Given the description of an element on the screen output the (x, y) to click on. 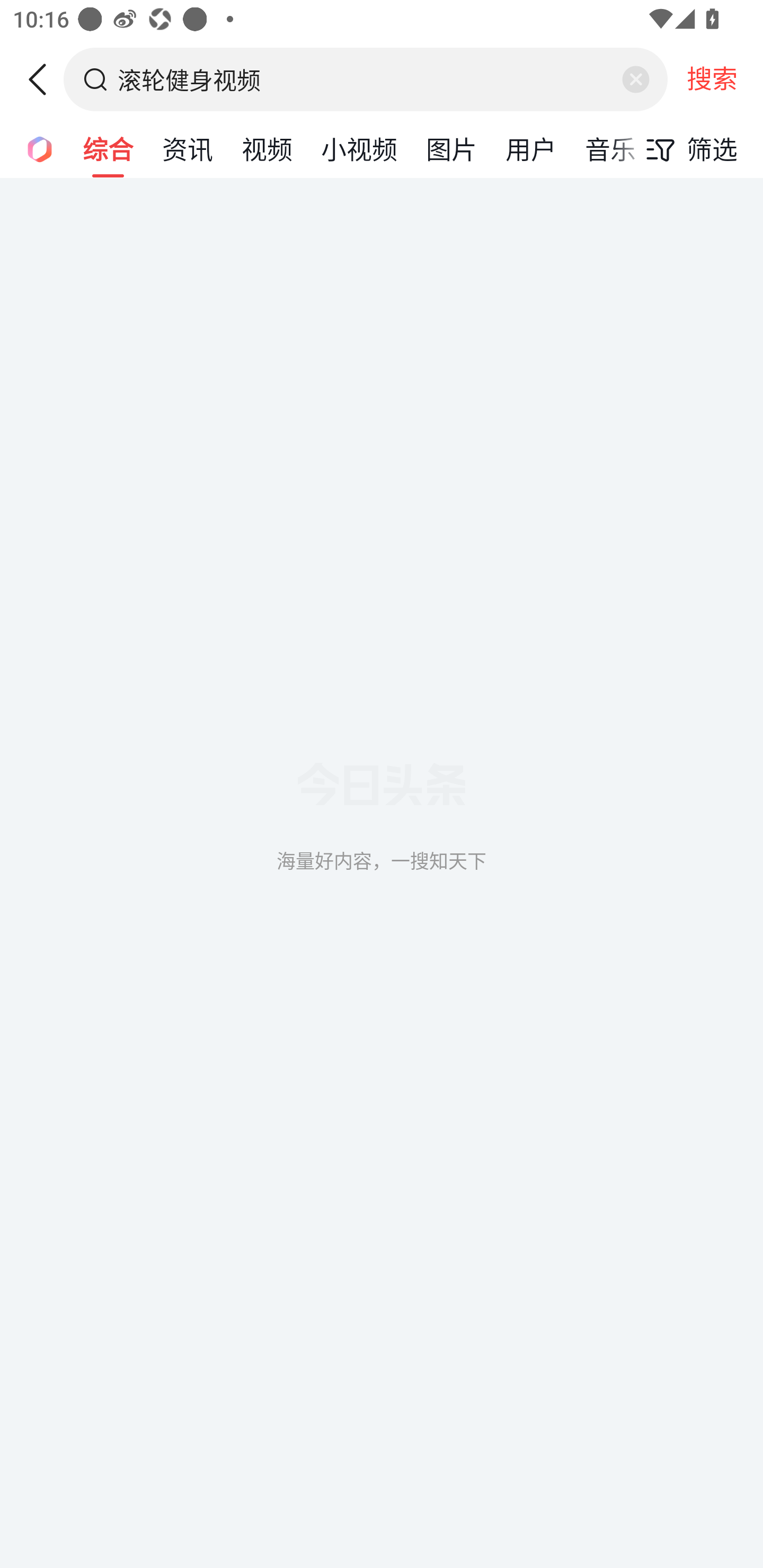
搜索框，滚轮健身视频 (366, 79)
搜索 (711, 79)
返回 (44, 79)
清除 (635, 79)
资讯 (187, 148)
视频 (266, 148)
小视频 (359, 148)
图片 (451, 148)
用户 (530, 148)
筛选 (686, 149)
AI问答 (34, 148)
